Given the description of an element on the screen output the (x, y) to click on. 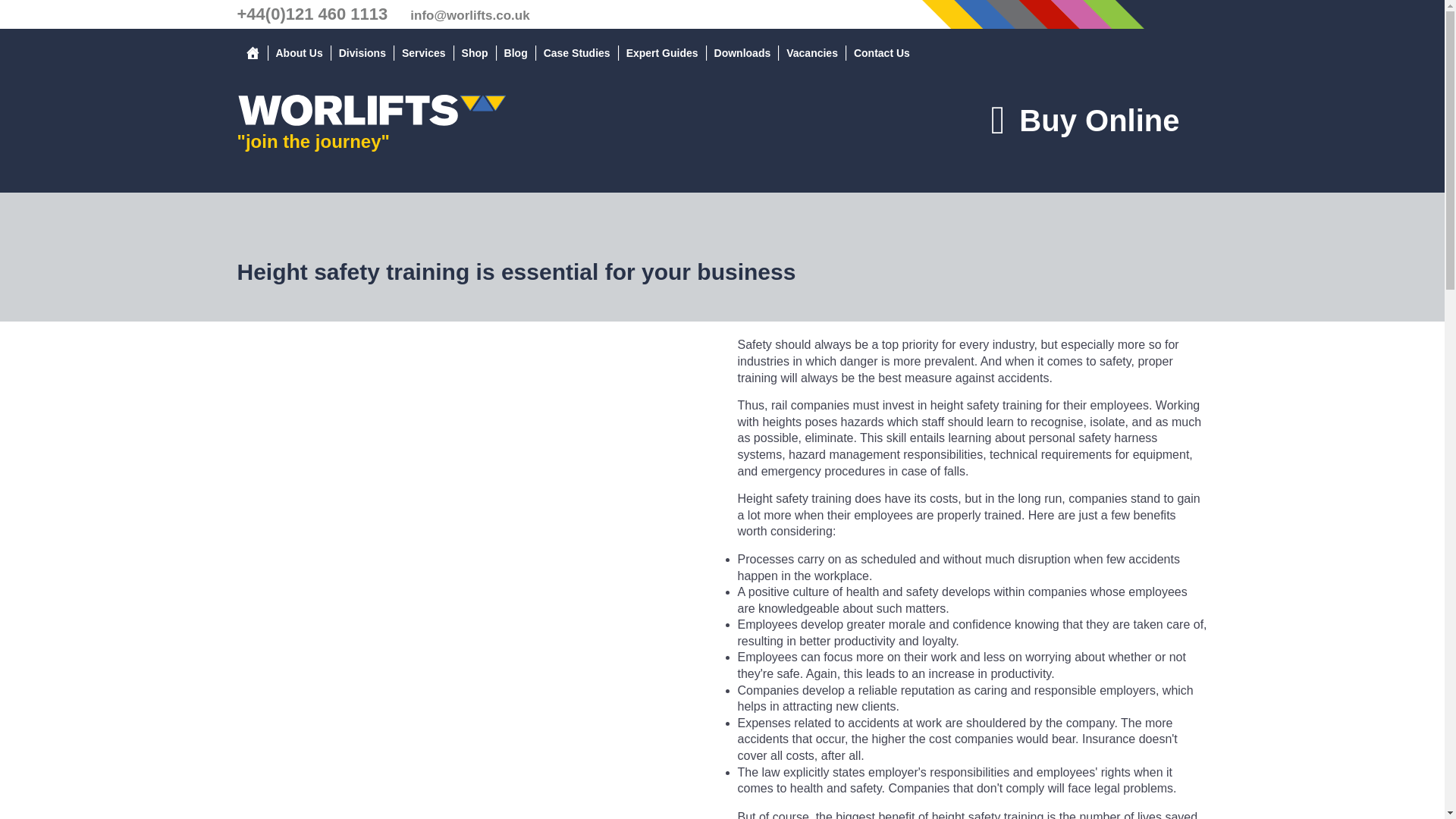
Vacancies (811, 52)
Shop (475, 52)
About Us (298, 52)
Buy Online (1084, 120)
Expert Guides (662, 52)
Case Studies (576, 52)
Contact Us (881, 52)
Downloads (742, 52)
Services (423, 52)
